Given the description of an element on the screen output the (x, y) to click on. 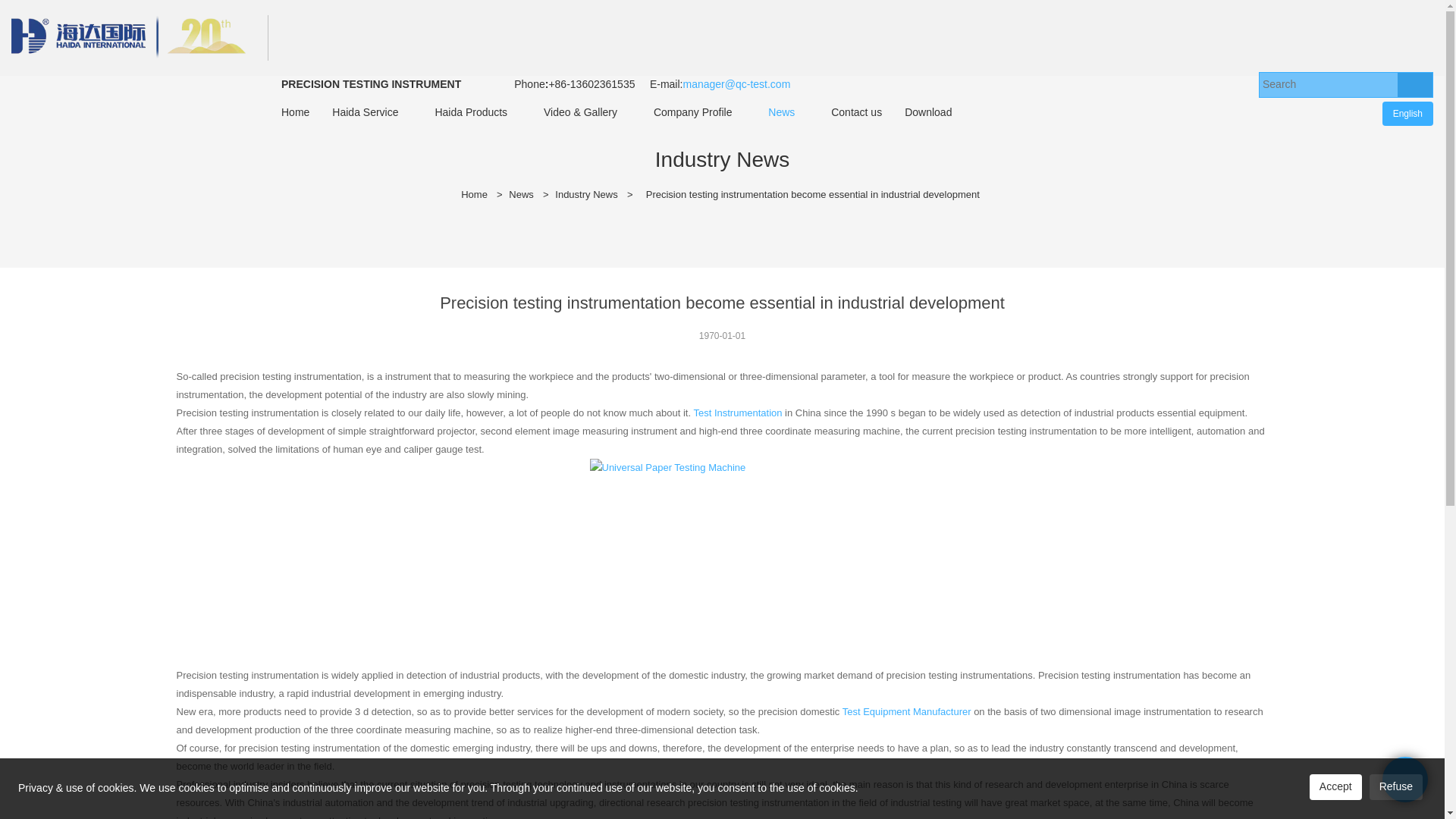
Home (294, 112)
Haida Service (364, 112)
Haida Products (470, 112)
